Given the description of an element on the screen output the (x, y) to click on. 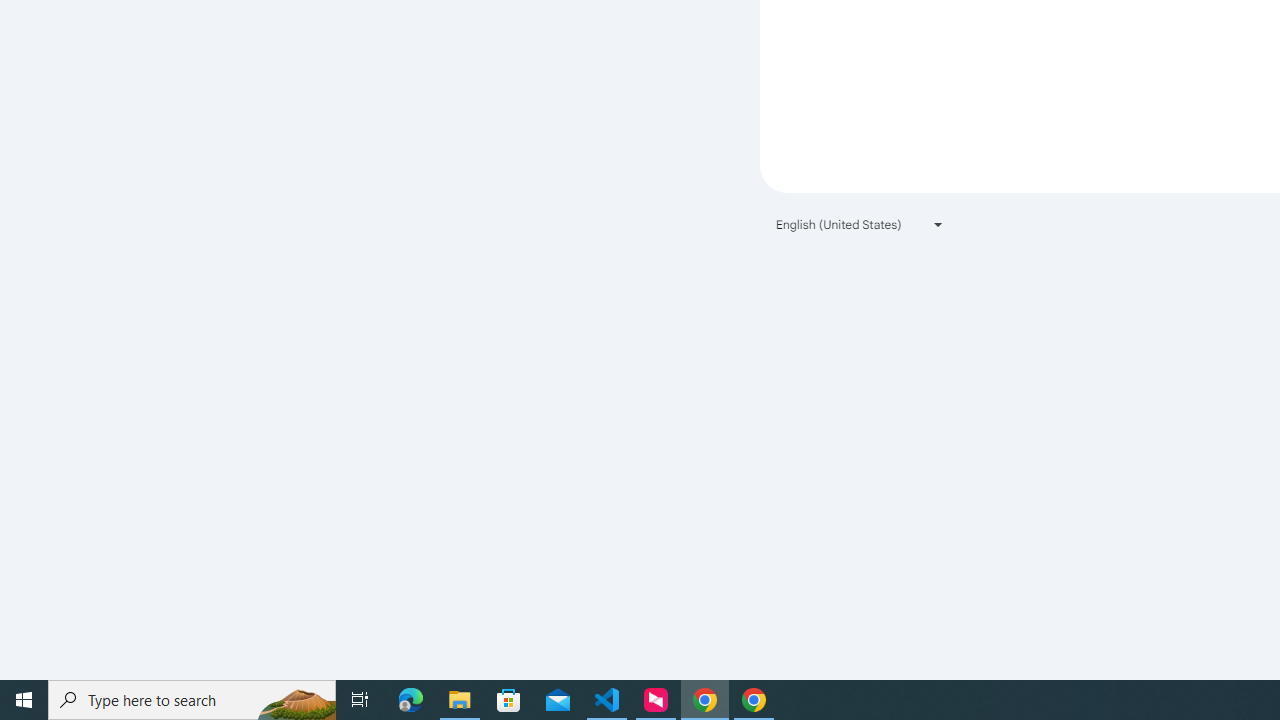
English (United States) (860, 224)
